Given the description of an element on the screen output the (x, y) to click on. 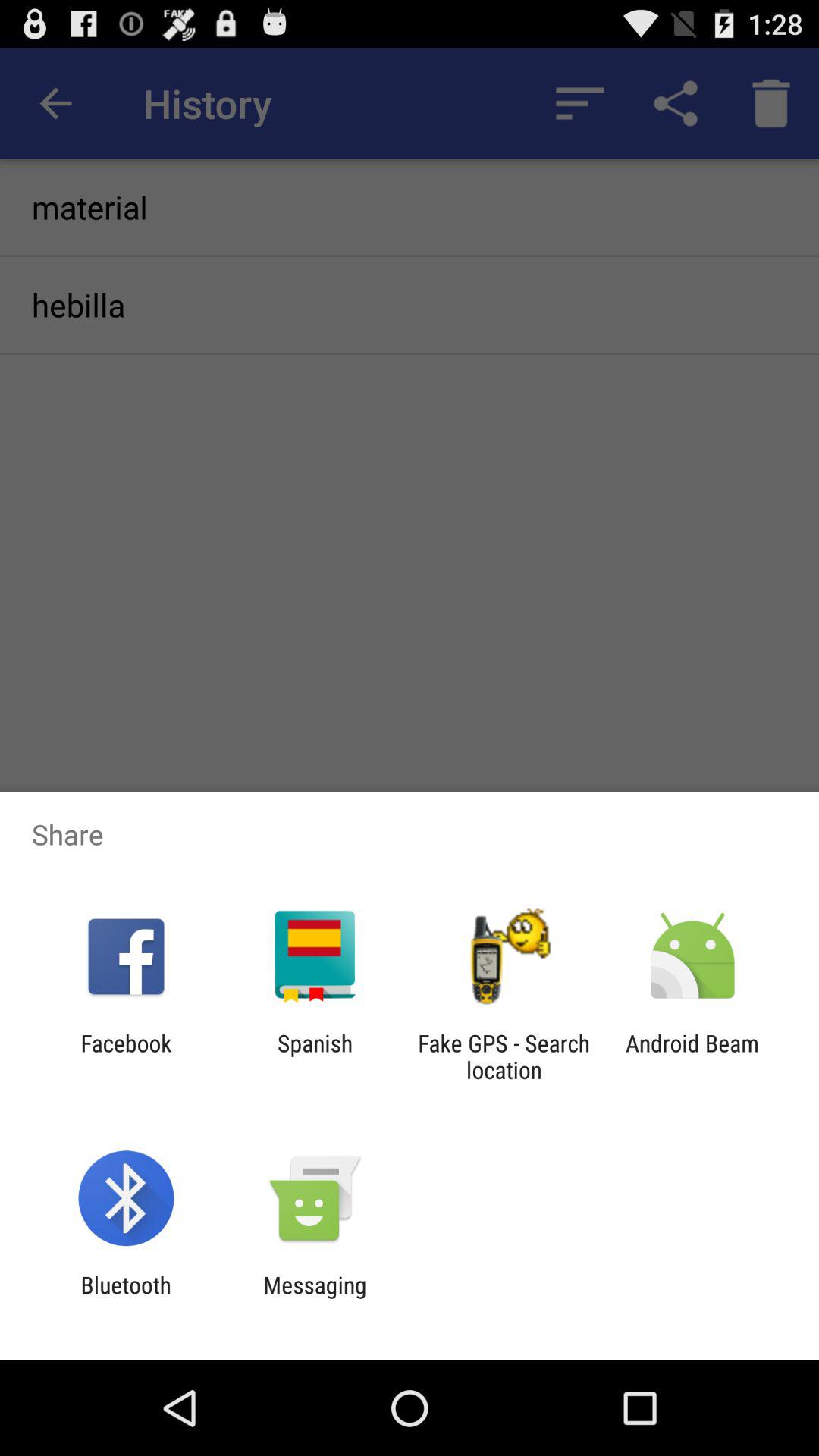
swipe to messaging (314, 1298)
